Given the description of an element on the screen output the (x, y) to click on. 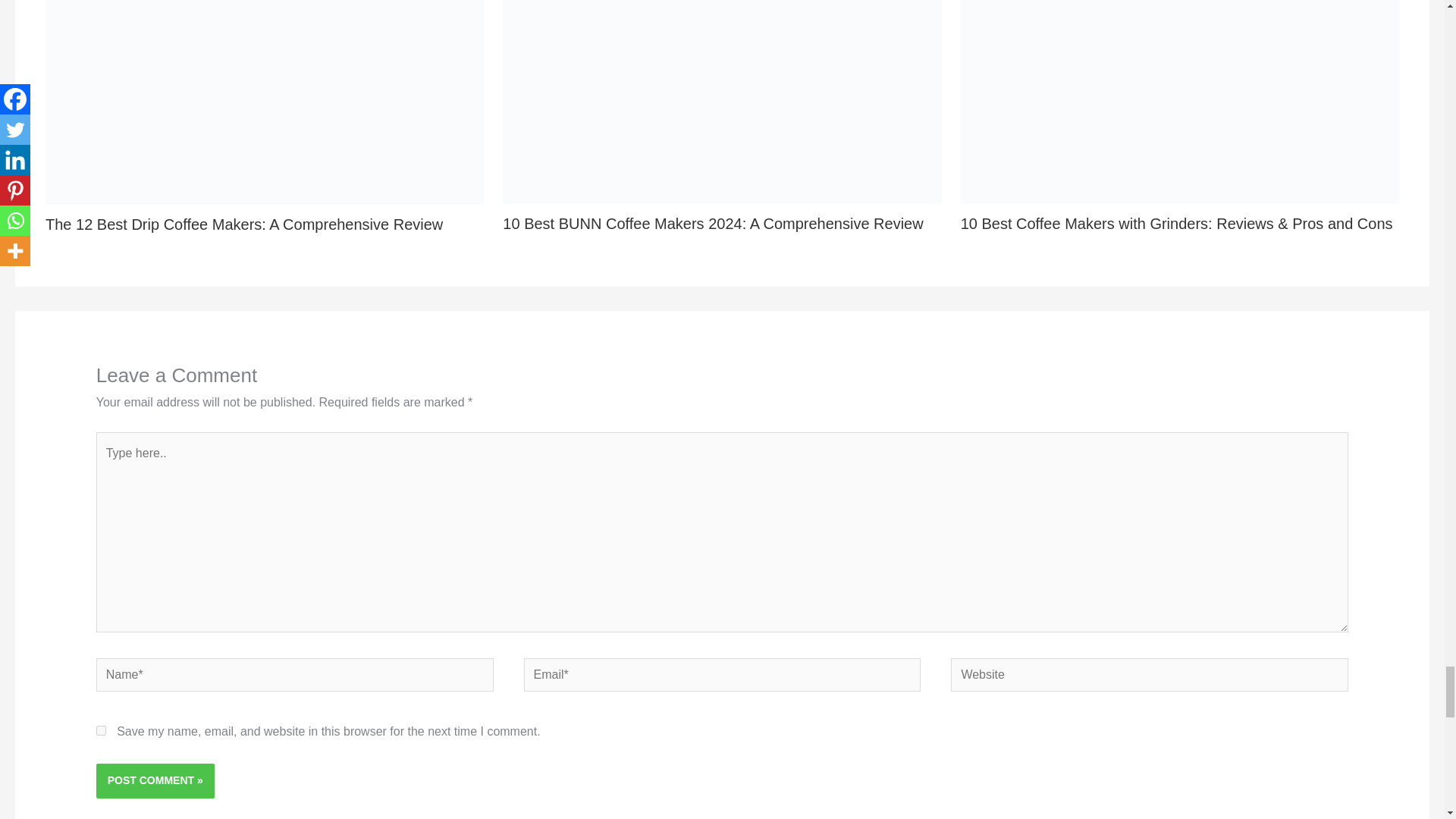
yes (101, 730)
